Given the description of an element on the screen output the (x, y) to click on. 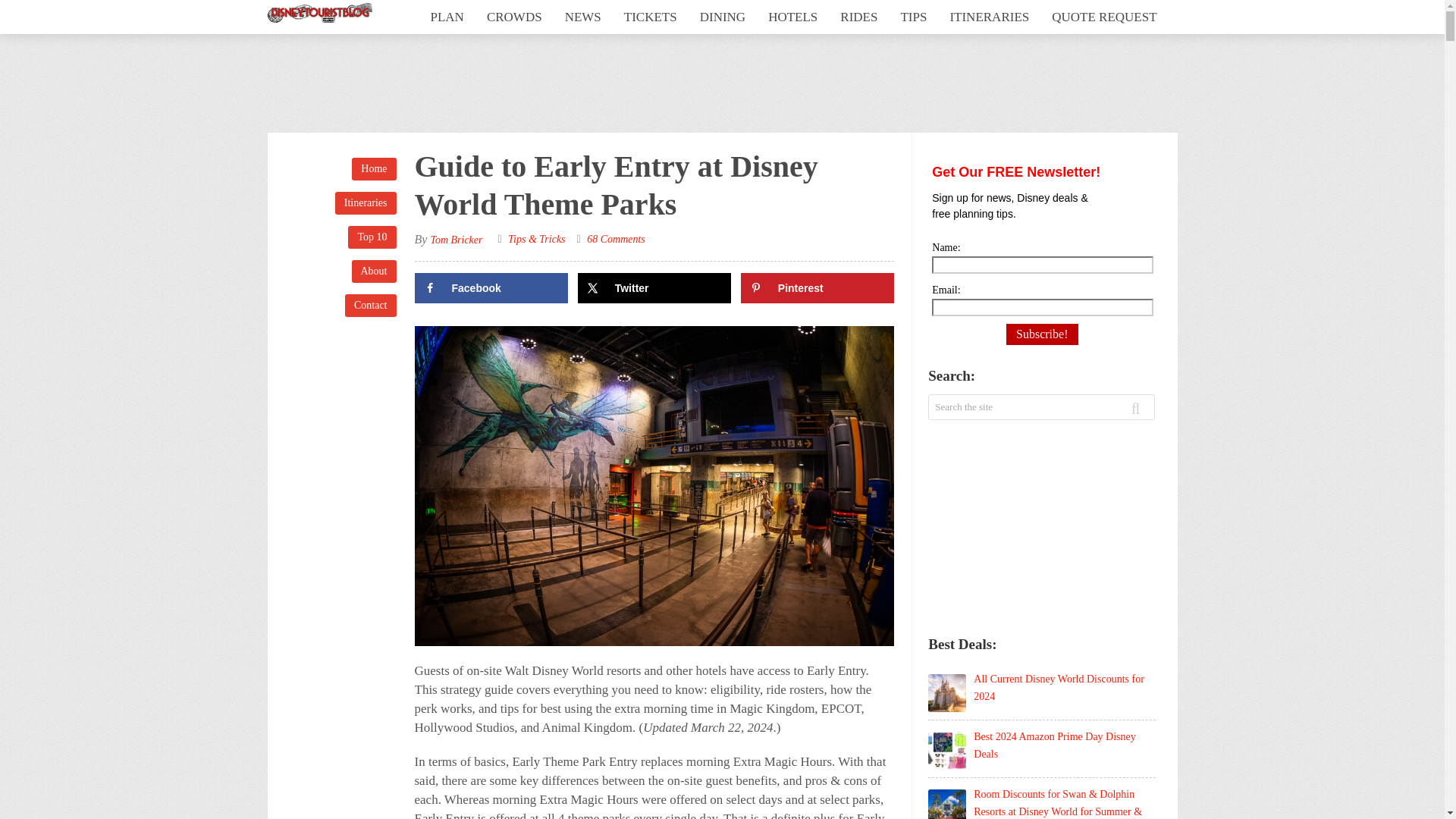
Home (374, 169)
DINING (722, 17)
About (374, 271)
Pinterest (818, 287)
68 Comments (615, 238)
RIDES (858, 17)
Subscribe! (1041, 333)
Share on Facebook (490, 287)
QUOTE REQUEST (1104, 17)
Save to Pinterest (818, 287)
